Given the description of an element on the screen output the (x, y) to click on. 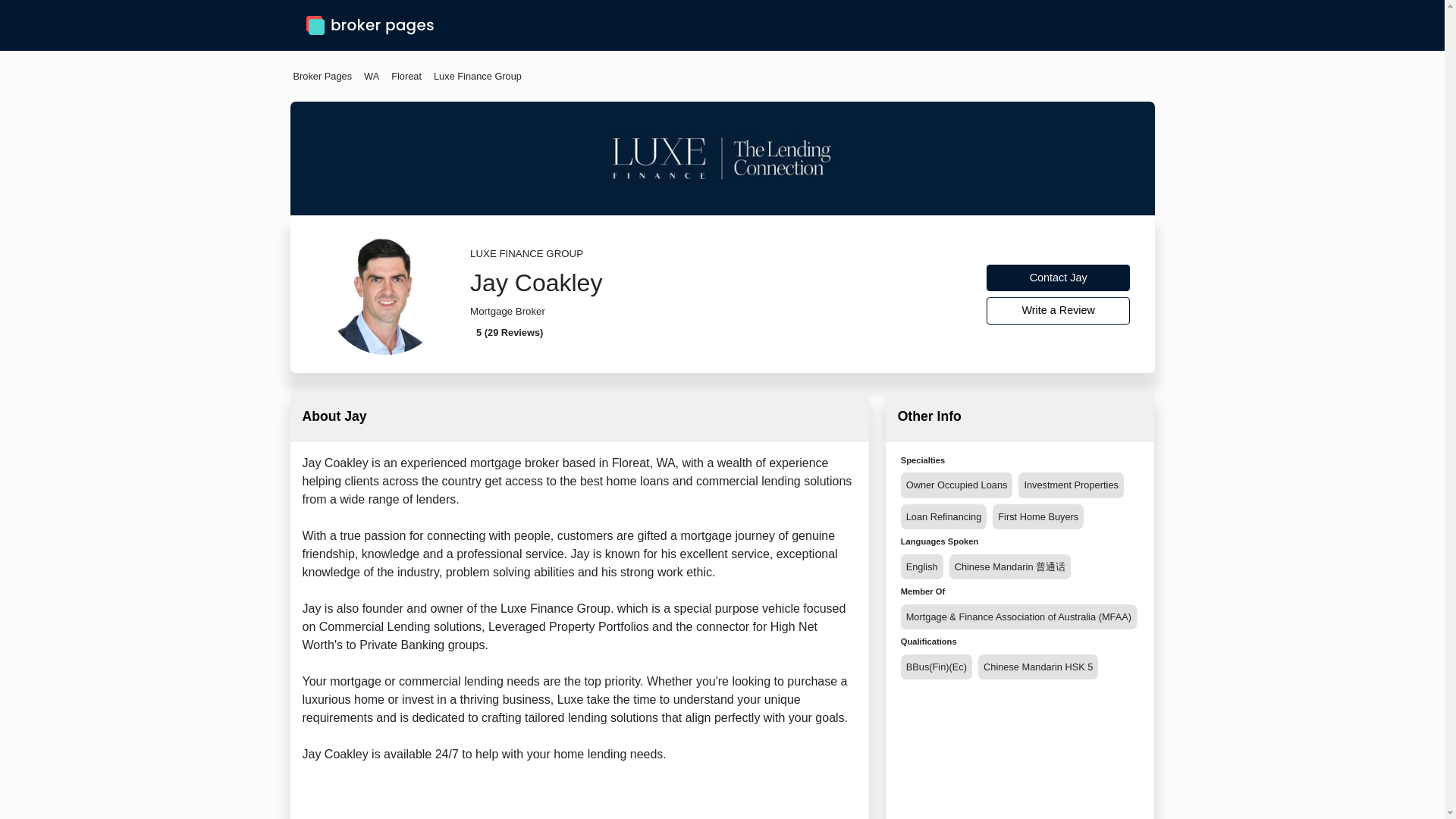
Write a Review (1059, 310)
Contact Jay (1059, 277)
Broker Pages (322, 75)
Floreat (406, 75)
